Given the description of an element on the screen output the (x, y) to click on. 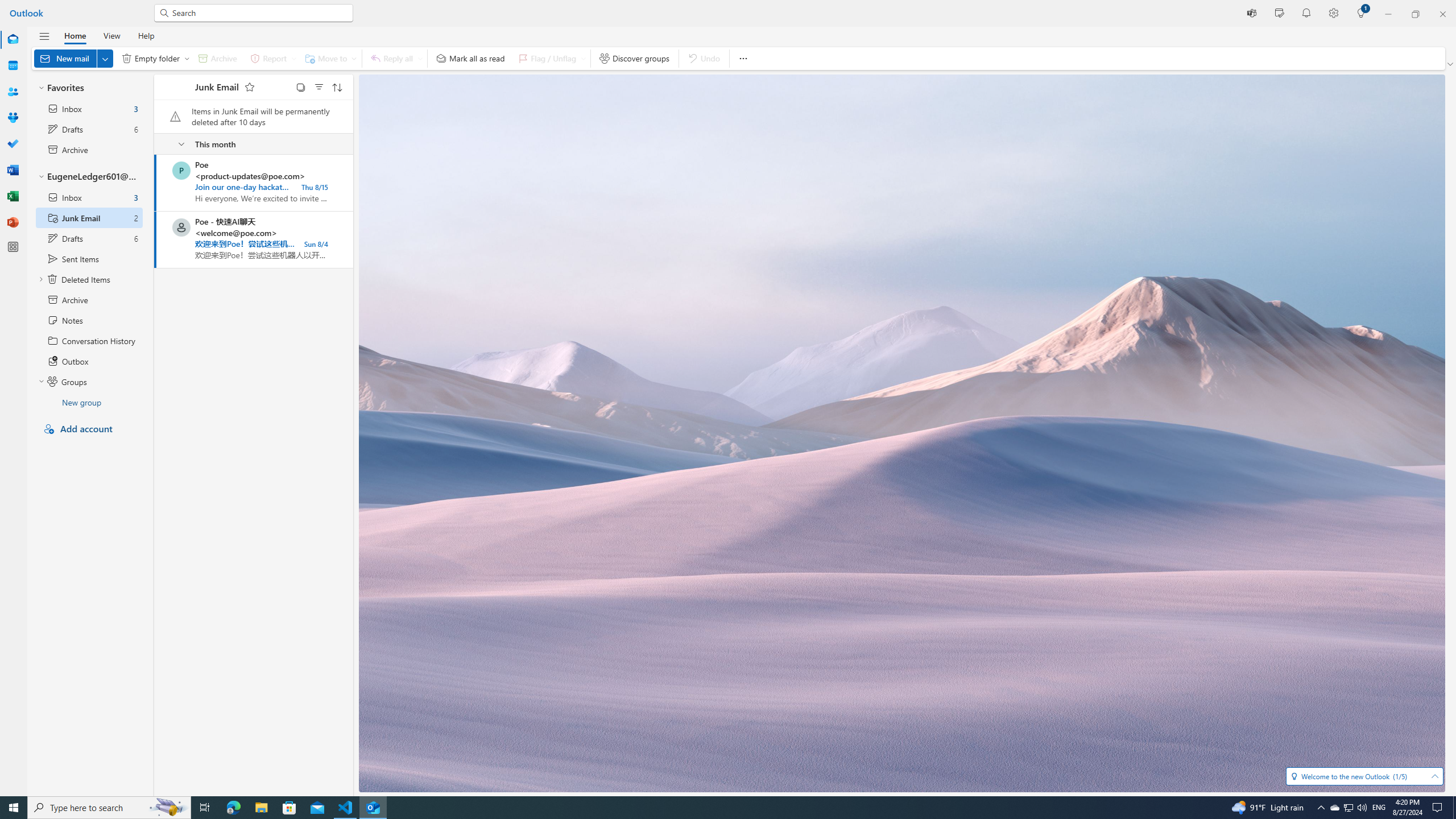
PowerPoint (12, 222)
Junk Email selected 2 items (89, 217)
Empty folder (153, 58)
Notes (89, 319)
Mail (12, 39)
EugeneLedger601@outlook.com (89, 176)
Filter (318, 86)
Running applications (706, 807)
Sent Items (89, 258)
Groups (89, 381)
Expand to see flag options (583, 58)
Groups (12, 118)
